Given the description of an element on the screen output the (x, y) to click on. 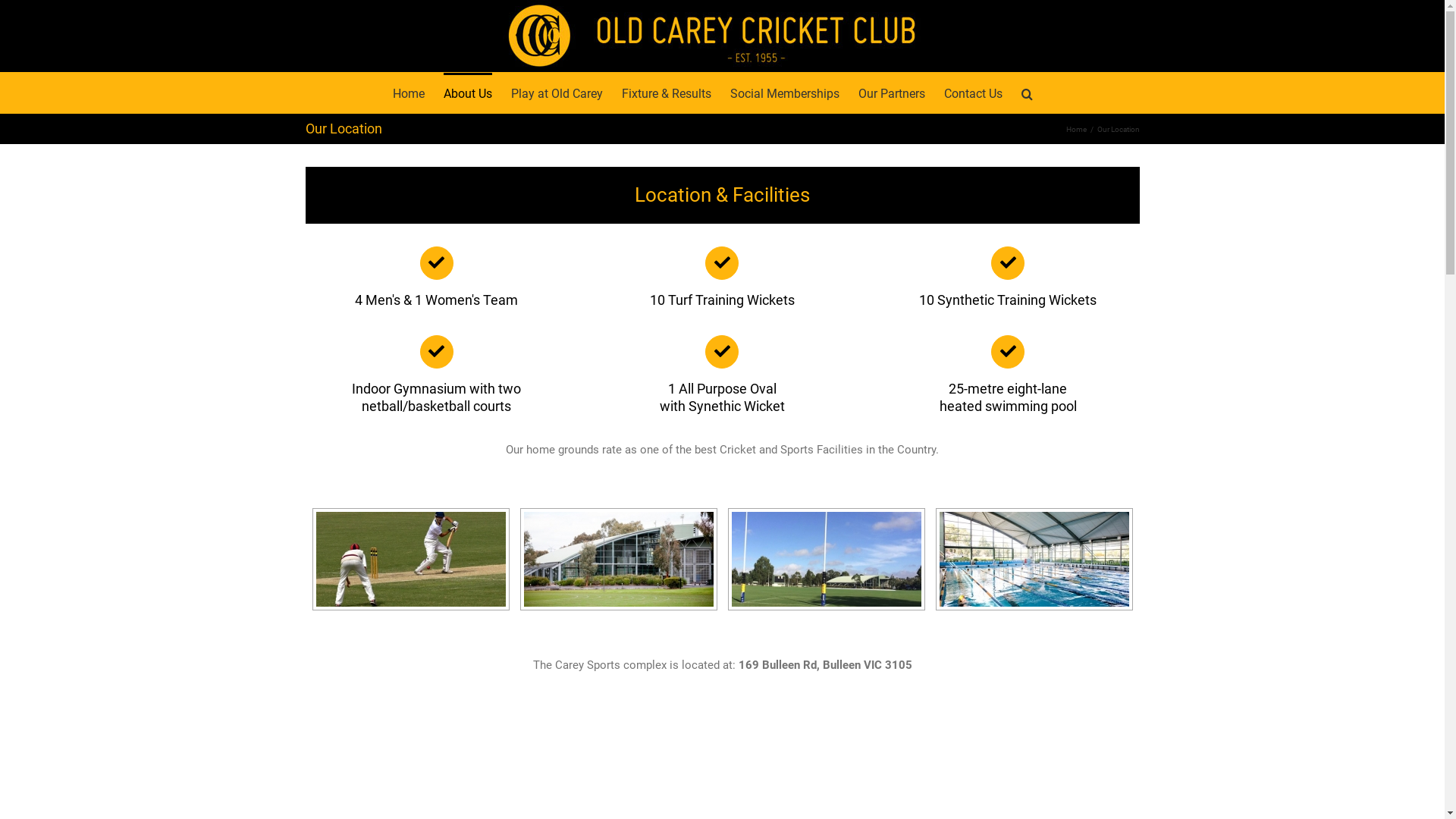
gallery-four Element type: hover (1033, 558)
gallery-three Element type: hover (825, 558)
Search Element type: hover (1026, 92)
Play at Old Carey Element type: text (556, 92)
gallery-one Element type: hover (410, 558)
Our Partners Element type: text (891, 92)
Fixture & Results Element type: text (666, 92)
About Us Element type: text (467, 92)
Social Memberships Element type: text (784, 92)
gallery-two Element type: hover (617, 558)
Home Element type: text (408, 92)
Contact Us Element type: text (973, 92)
Home Element type: text (1076, 128)
